Given the description of an element on the screen output the (x, y) to click on. 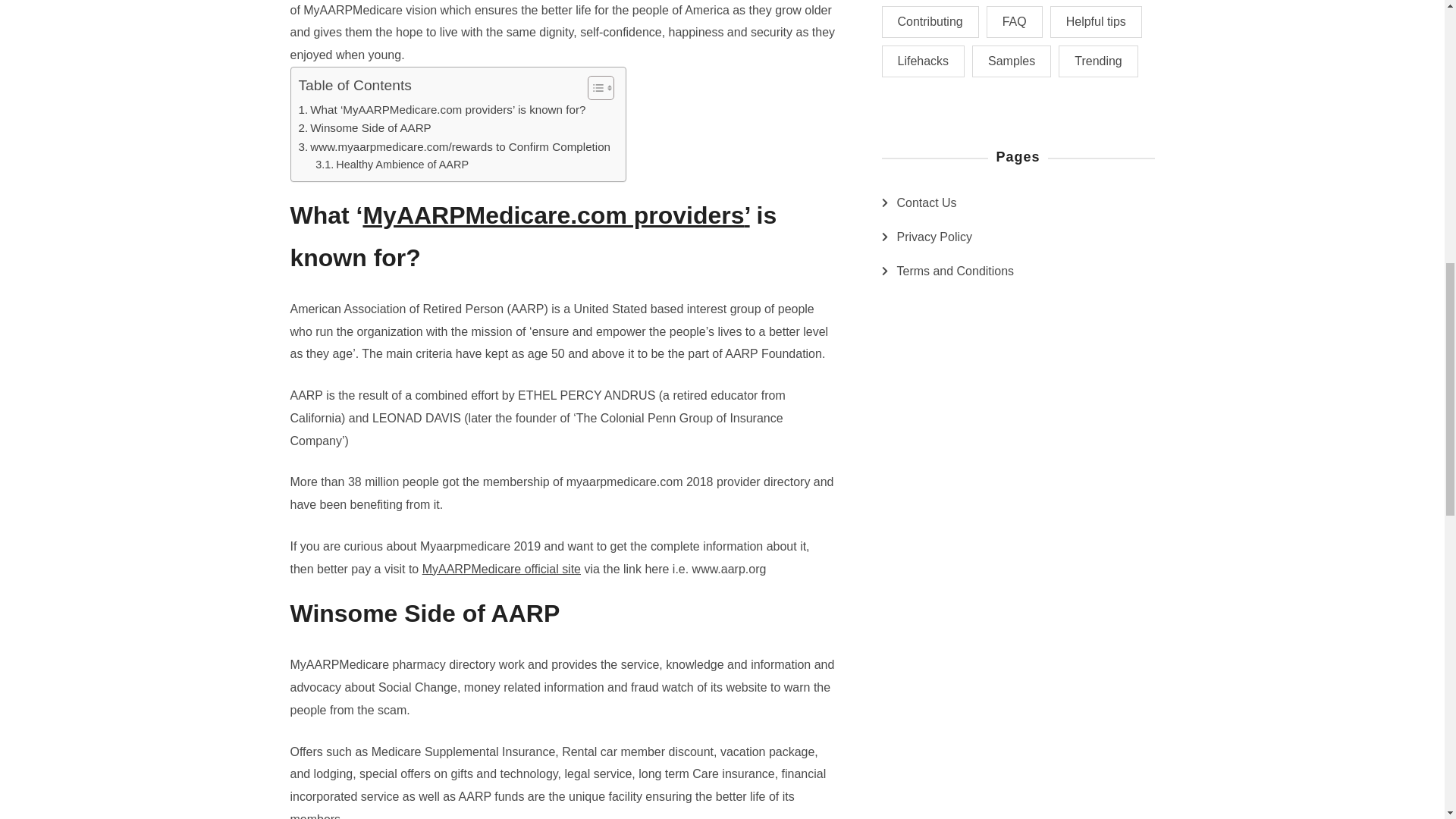
Trending (1098, 60)
Healthy Ambience of AARP (391, 164)
FAQ (1014, 21)
Contributing (929, 21)
Helpful tips (1095, 21)
Samples (1011, 60)
Winsome Side of AARP (364, 127)
Healthy Ambience of AARP (391, 164)
Winsome Side of AARP (364, 127)
Lifehacks (921, 60)
